Given the description of an element on the screen output the (x, y) to click on. 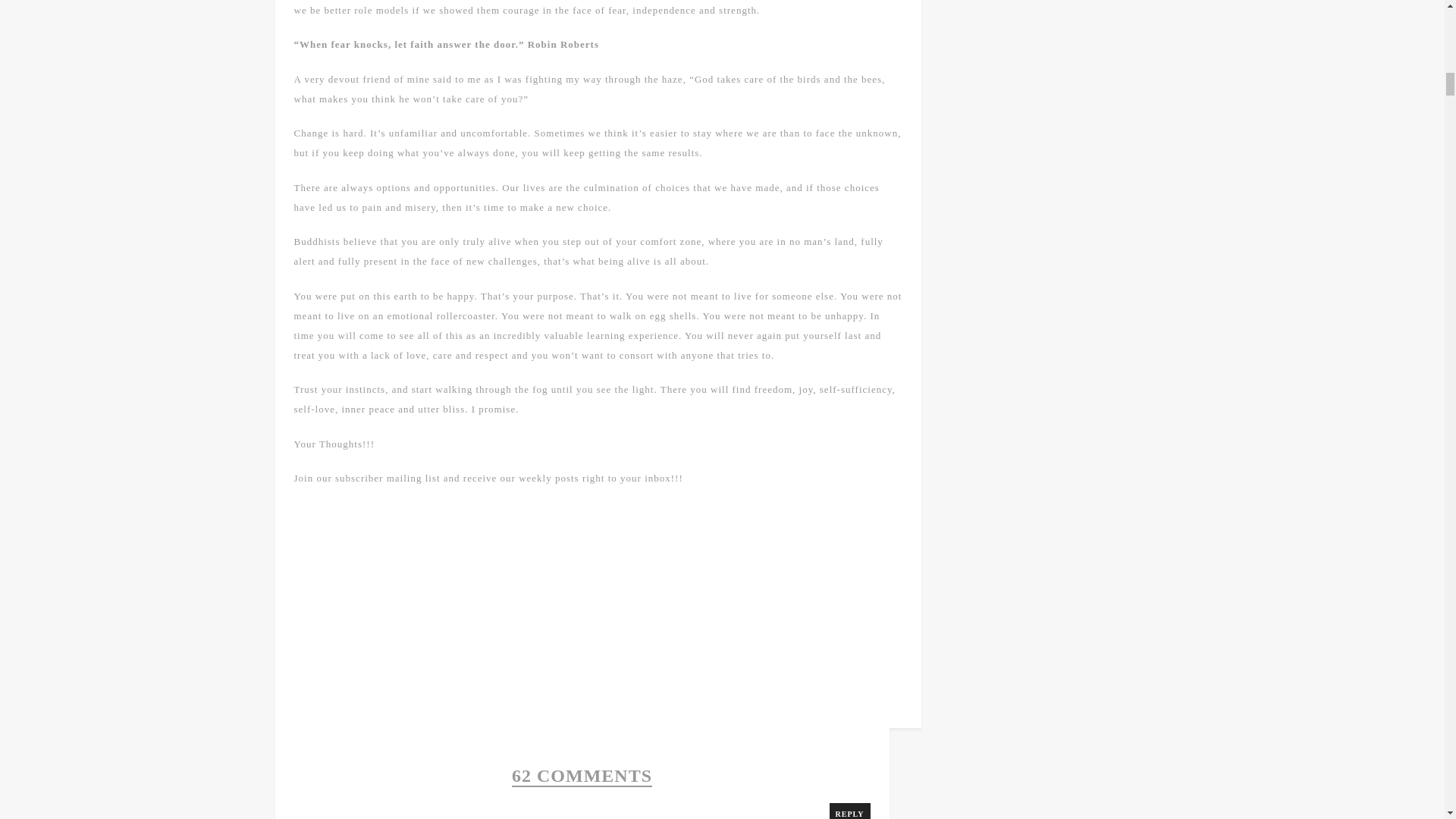
REPLY (849, 811)
